Given the description of an element on the screen output the (x, y) to click on. 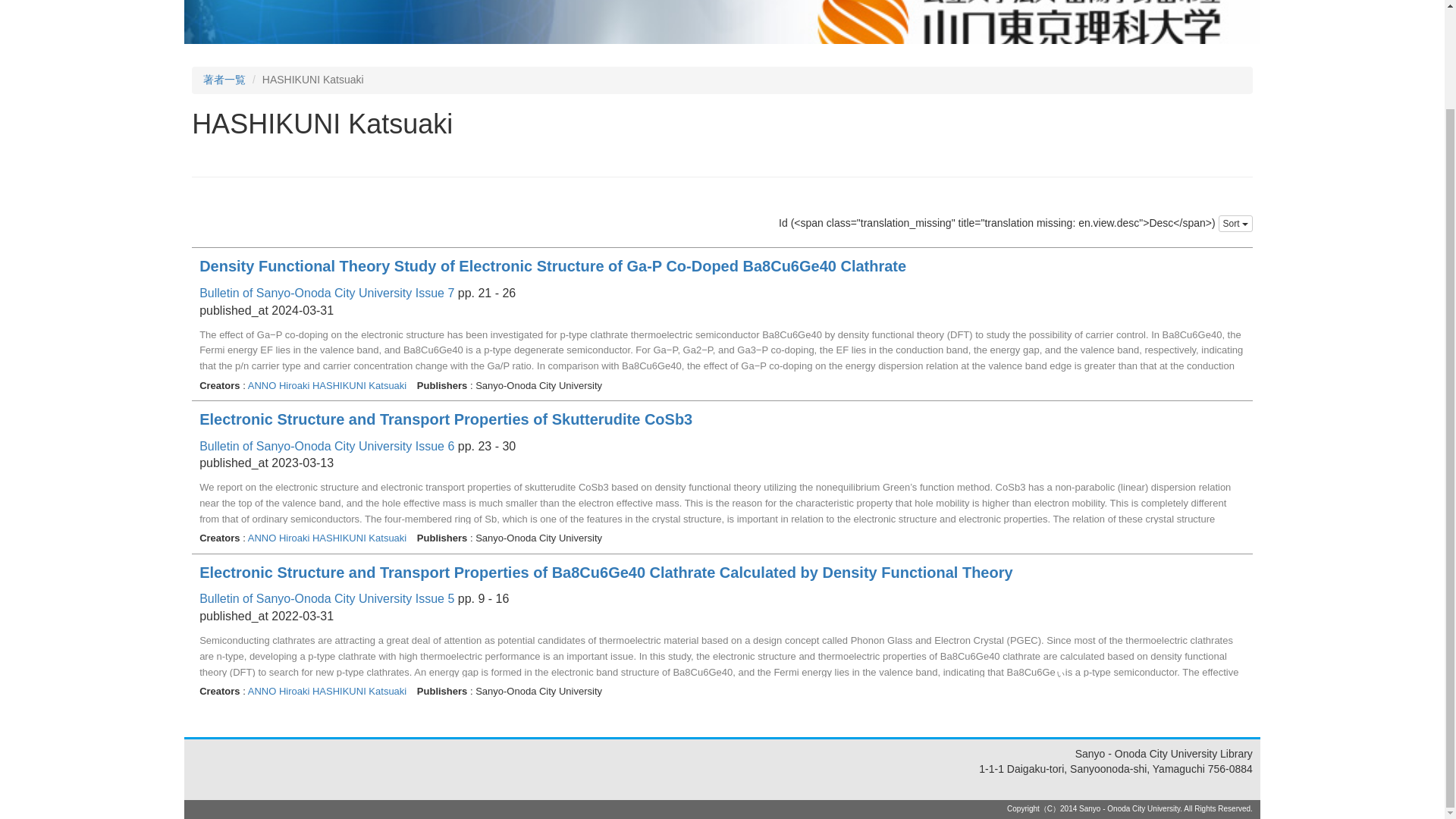
HASHIKUNI Katsuaki (361, 537)
Bulletin of Sanyo-Onoda City University Issue 6 (326, 445)
translation missing: en.view.sort (1231, 223)
Bulletin of Sanyo-Onoda City University Issue 5 (326, 598)
Sort (1235, 223)
ANNO Hiroaki (278, 385)
ANNO Hiroaki (278, 690)
HASHIKUNI Katsuaki (361, 385)
